Given the description of an element on the screen output the (x, y) to click on. 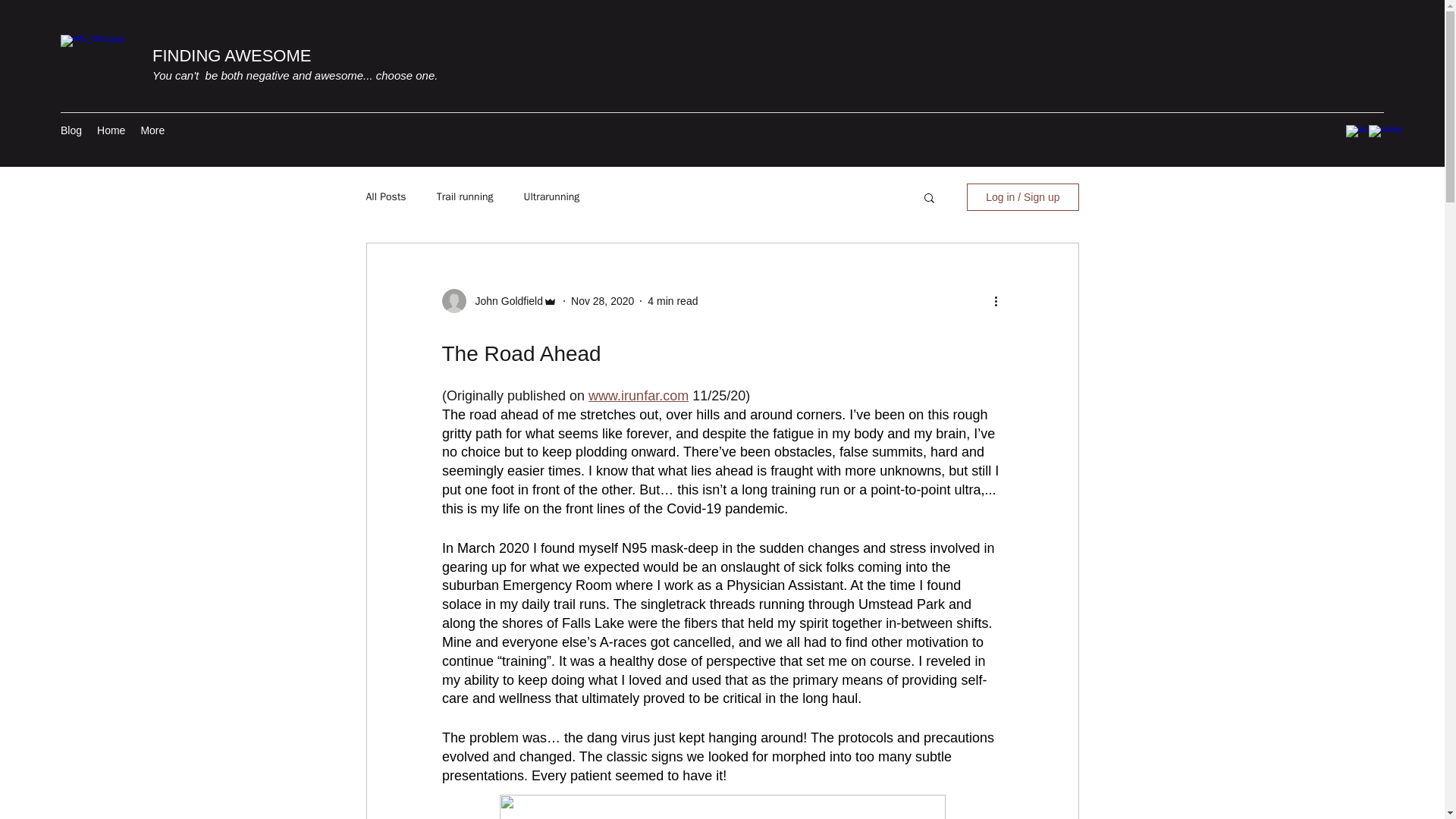
Ultrarunning (551, 196)
Nov 28, 2020 (601, 300)
Blog (70, 132)
Home (110, 132)
4 min read (672, 300)
John Goldfield (504, 301)
All Posts (385, 196)
www.irunfar.com (638, 395)
Trail running (464, 196)
